Given the description of an element on the screen output the (x, y) to click on. 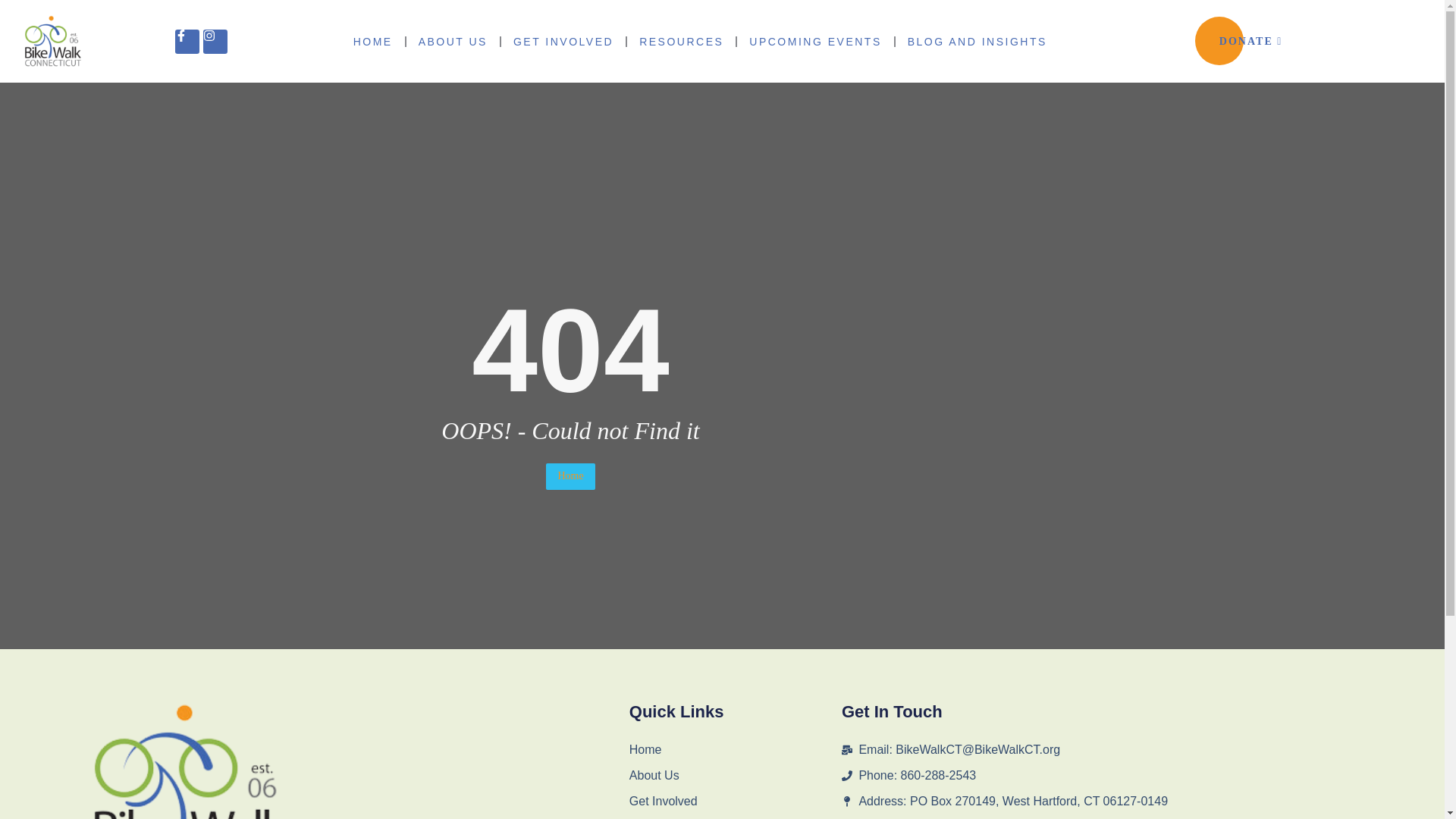
DONATE (1250, 41)
Get Involved (734, 801)
Home (734, 750)
UPCOMING EVENTS (814, 40)
Phone: 860-288-2543 (1102, 775)
ABOUT US (453, 40)
RESOURCES (681, 40)
GET INVOLVED (562, 40)
HOME (373, 40)
BLOG AND INSIGHTS (976, 40)
Home (570, 476)
About Us (734, 775)
